Given the description of an element on the screen output the (x, y) to click on. 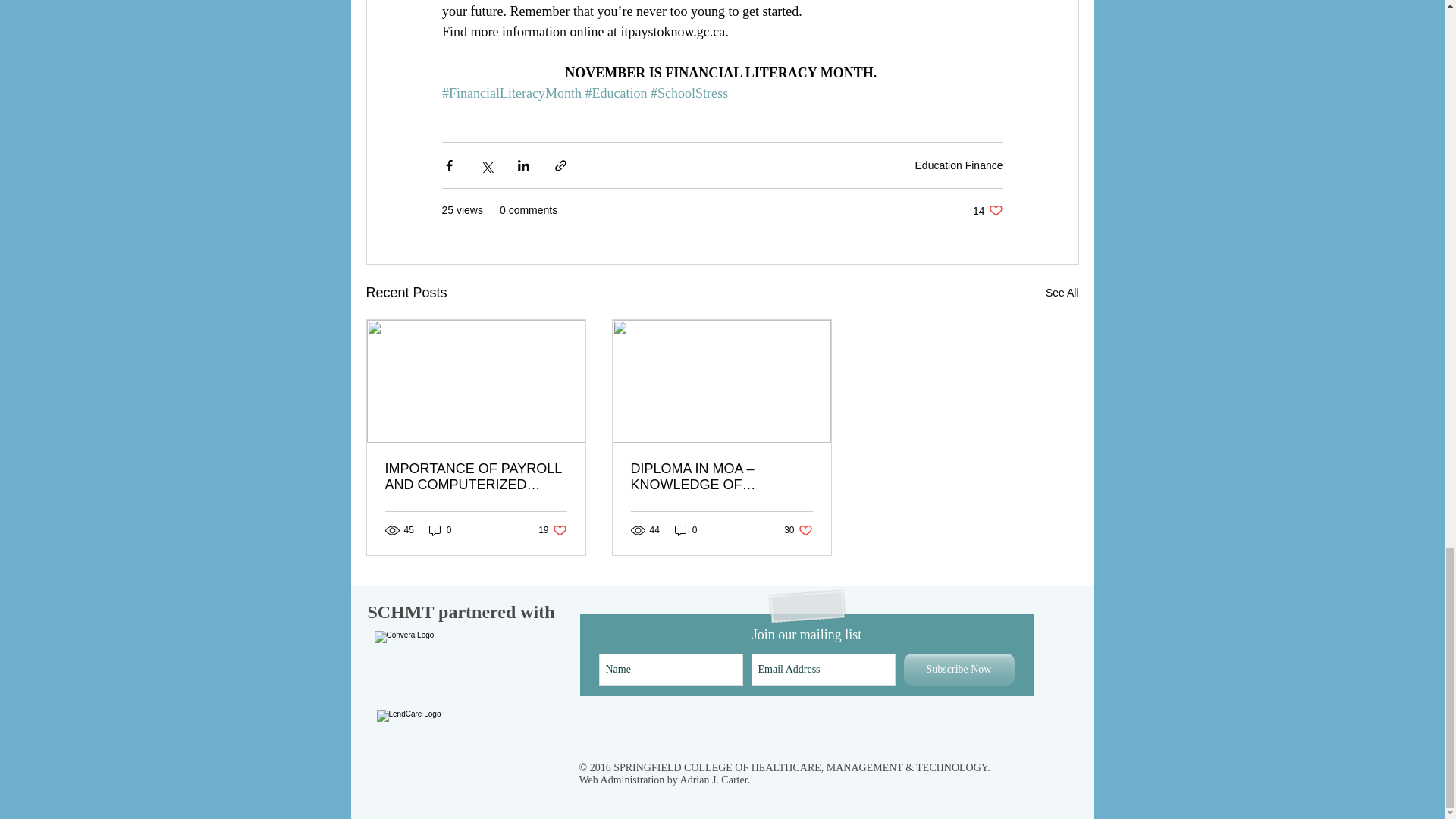
Lend-Care.png (437, 733)
